Given the description of an element on the screen output the (x, y) to click on. 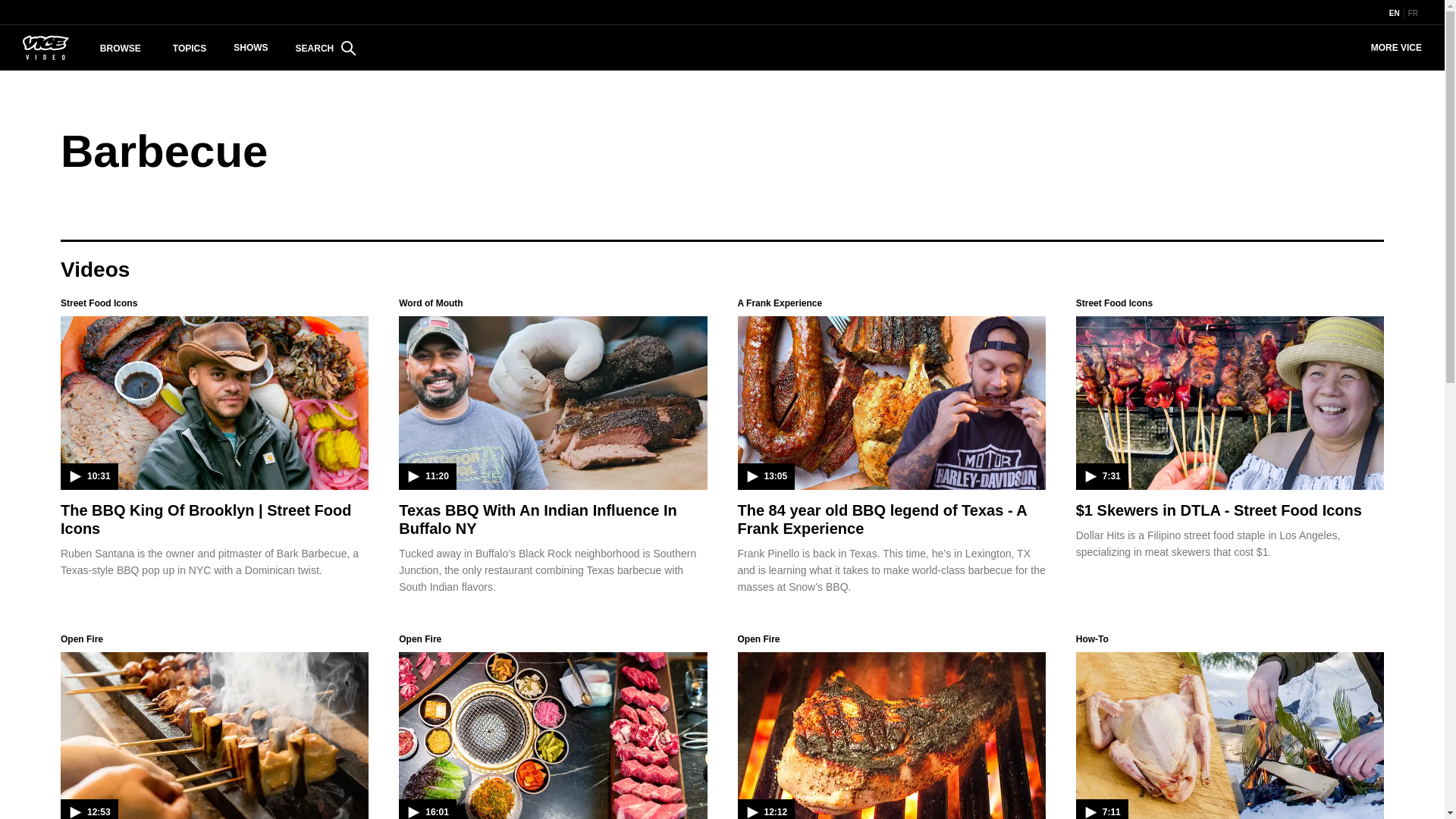
FR (1412, 13)
BROWSE (120, 48)
SEARCH (325, 48)
SHOWS (250, 47)
TOPICS (189, 48)
MORE VICE (1395, 47)
